Given the description of an element on the screen output the (x, y) to click on. 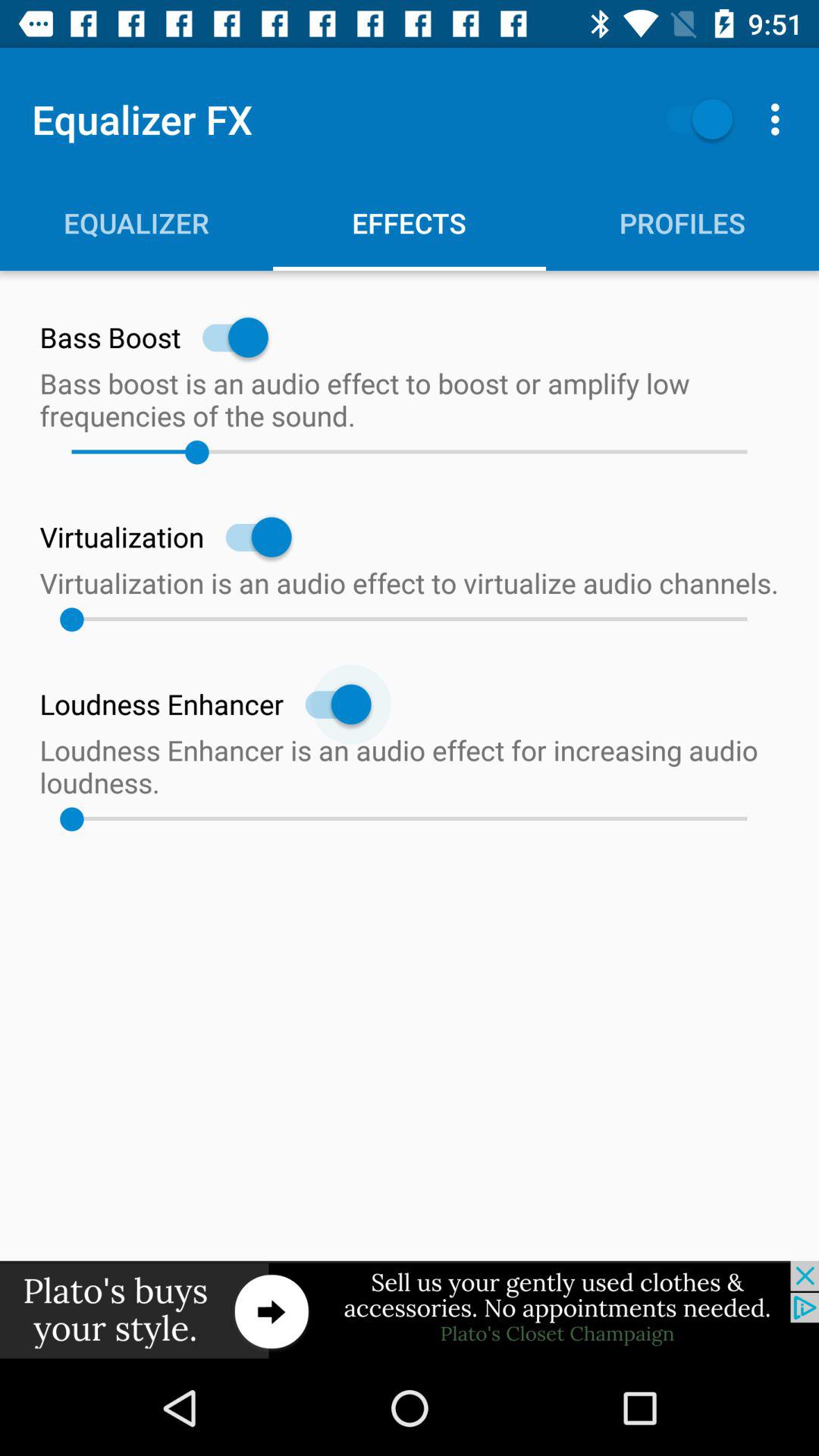
visit this site (409, 1310)
